Given the description of an element on the screen output the (x, y) to click on. 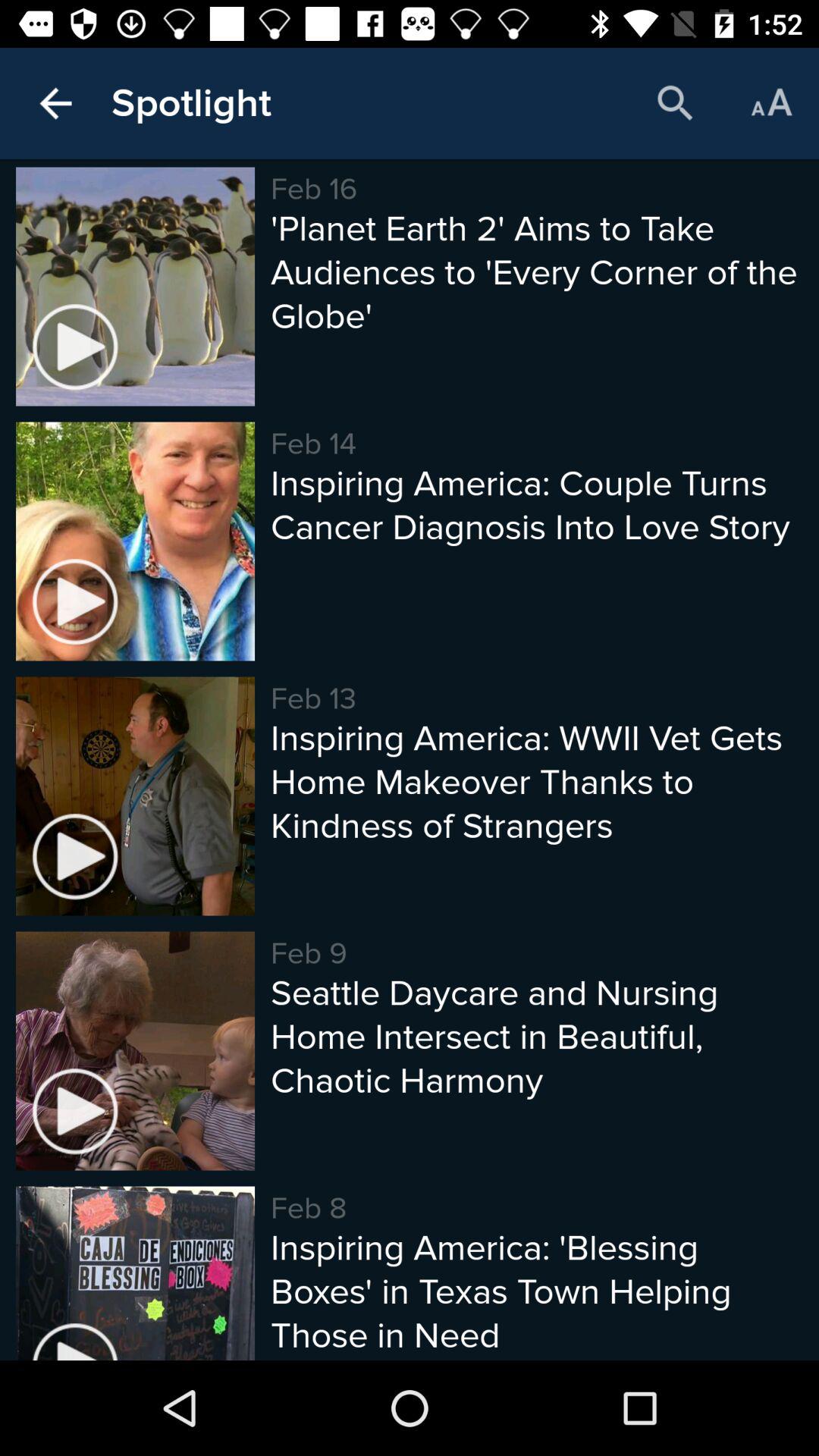
press the icon to the right of spotlight (675, 103)
